Given the description of an element on the screen output the (x, y) to click on. 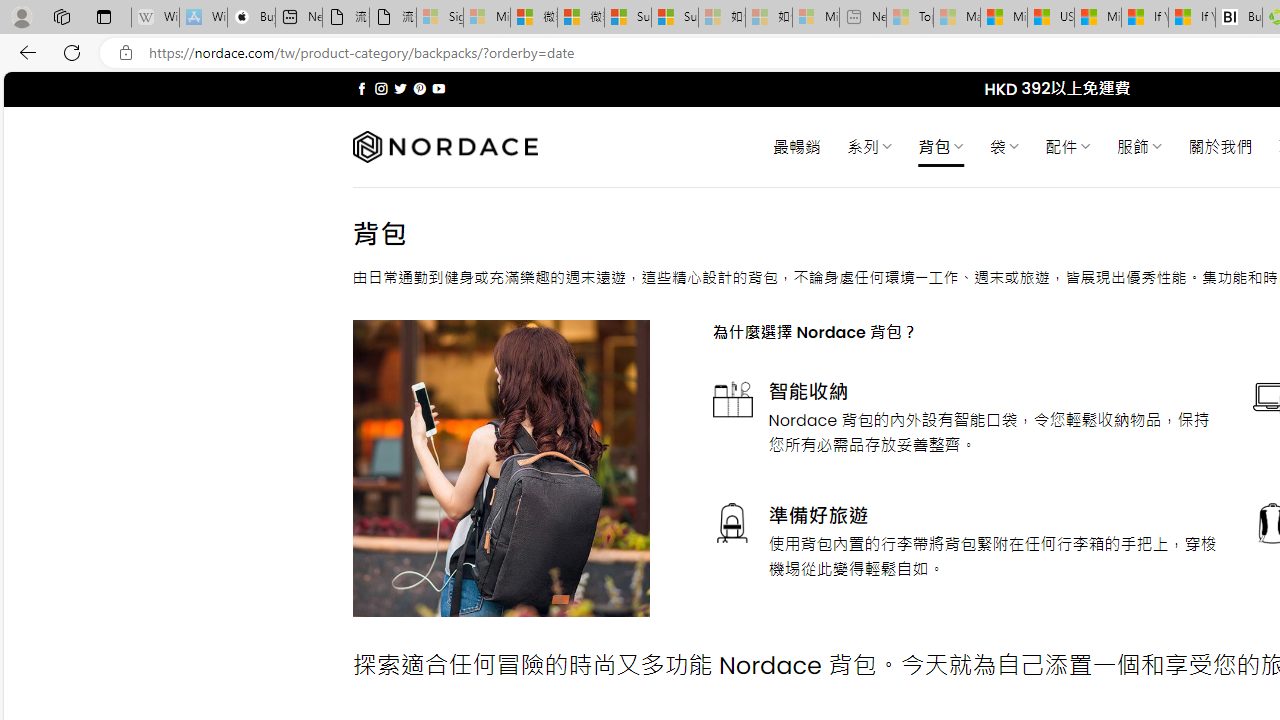
Follow on Facebook (361, 88)
US Heat Deaths Soared To Record High Last Year (1050, 17)
Marine life - MSN - Sleeping (957, 17)
Follow on Twitter (400, 88)
